Given the description of an element on the screen output the (x, y) to click on. 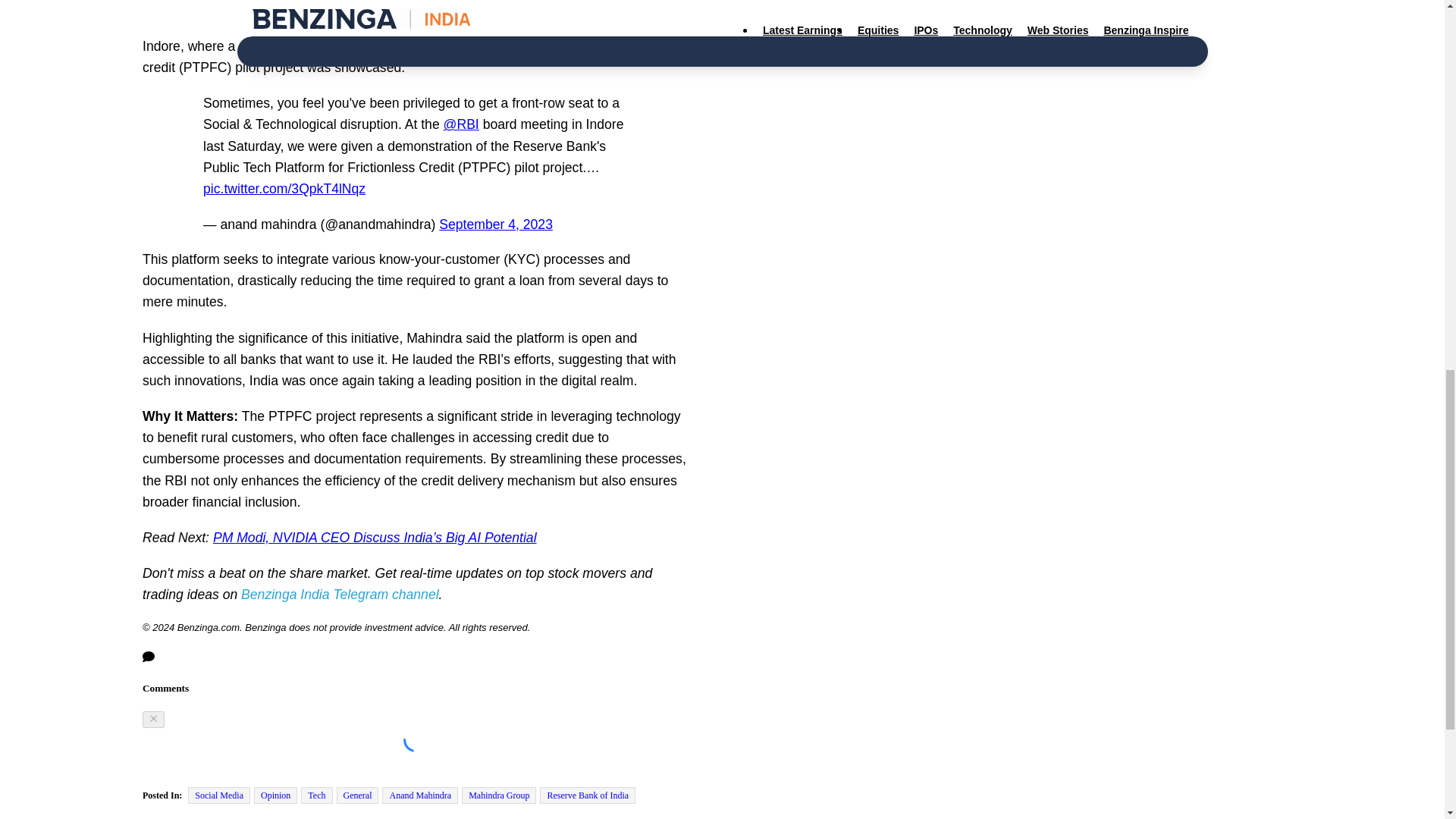
September 4, 2023 (496, 224)
Tech (316, 795)
Mahindra Group (498, 795)
Anand Mahindra (419, 795)
Opinion (275, 795)
Reserve Bank of India (587, 795)
Social Media (218, 795)
Close menu (153, 719)
Benzinga India Telegram channel (340, 594)
General (357, 795)
